Given the description of an element on the screen output the (x, y) to click on. 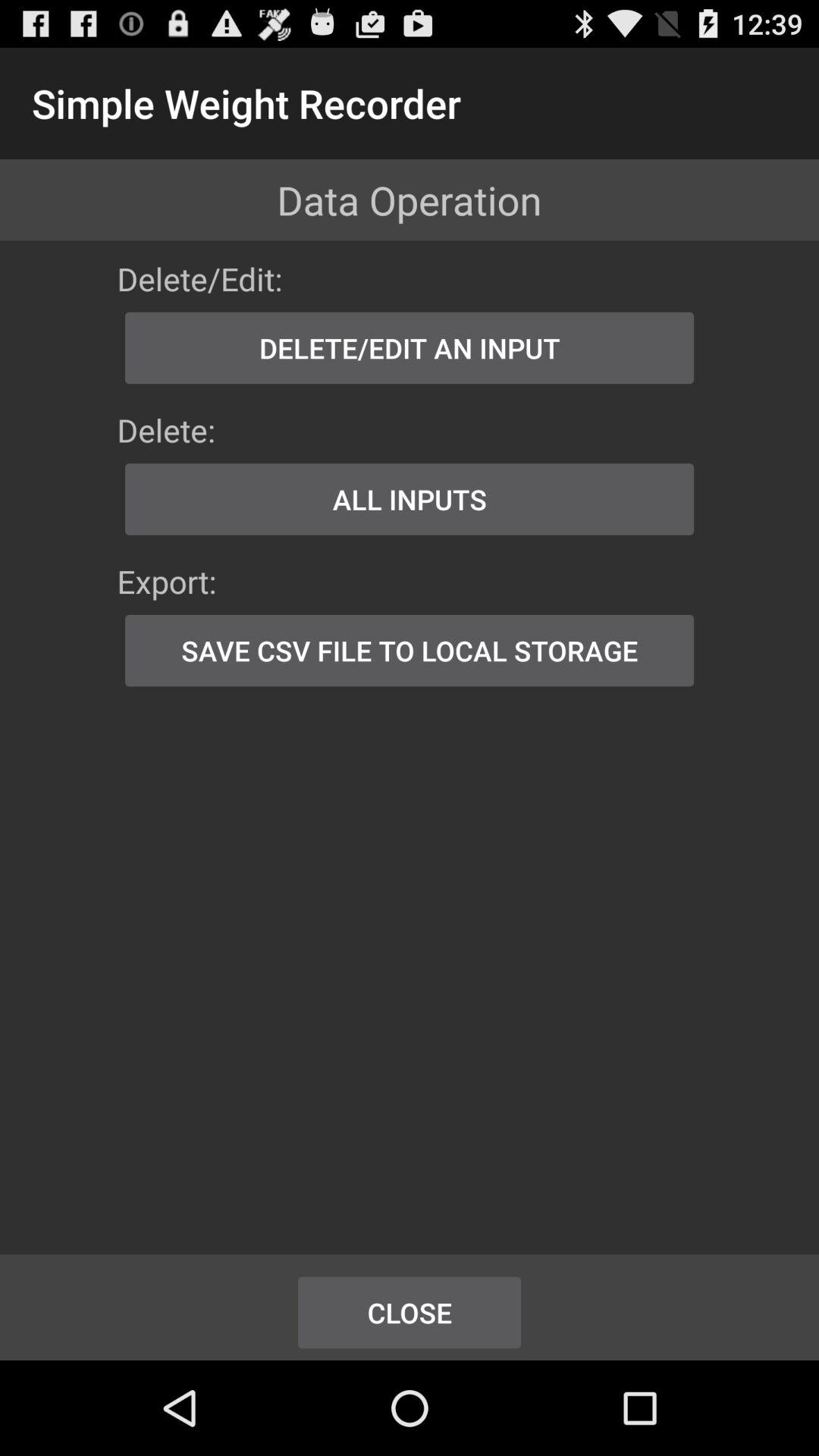
choose the button above the close button (409, 650)
